Given the description of an element on the screen output the (x, y) to click on. 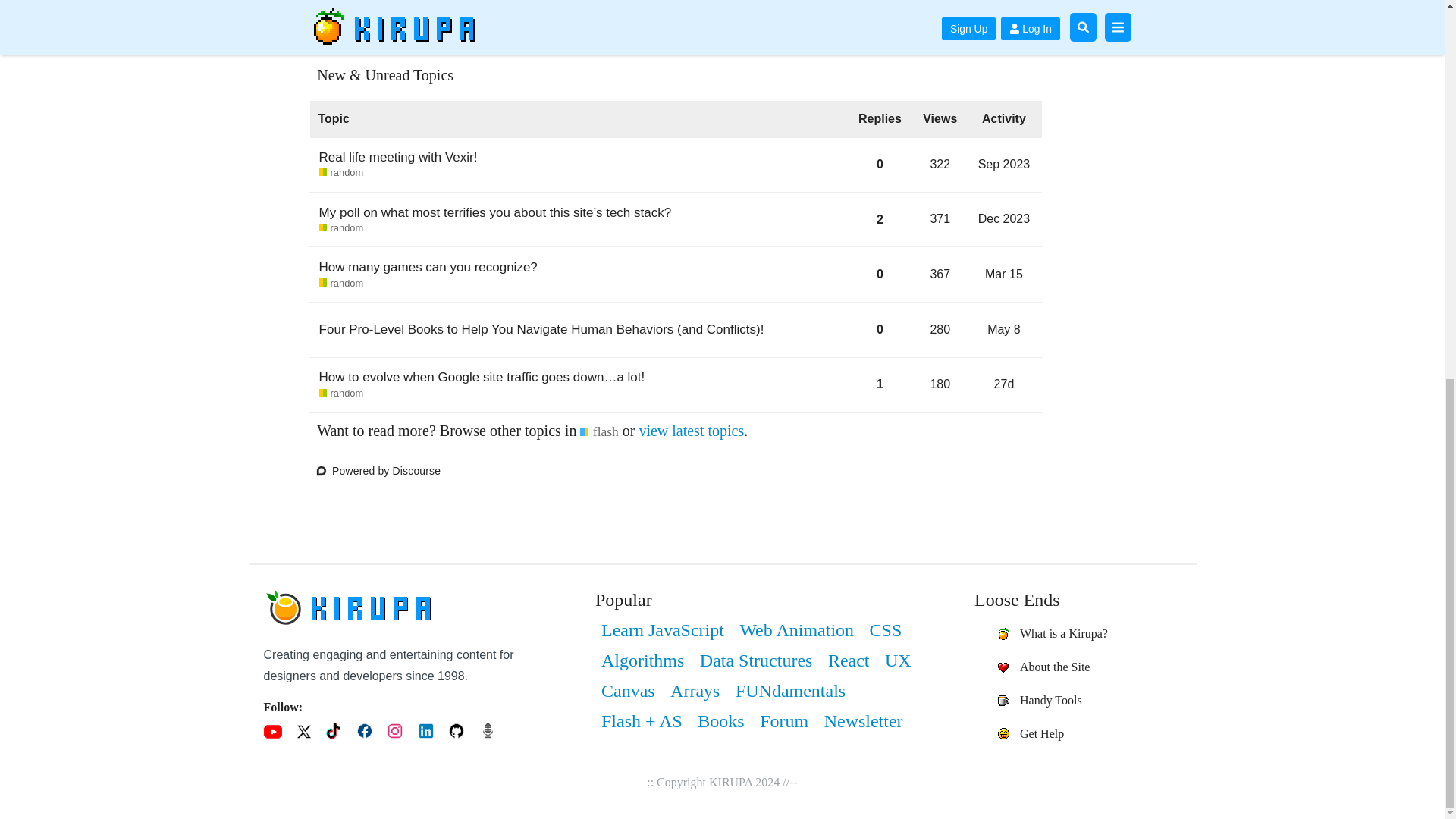
Created: Sep 20, 2023 9:45 pm (1005, 219)
Created: Mar 15, 2024 1:46 pm (1005, 169)
view latest topics (1005, 274)
this topic has been viewed 367 times (691, 430)
Real life meeting with Vexir! (940, 273)
This topic has 0 replies (397, 157)
May 8 (880, 274)
random (1004, 329)
How many games can you recognize? (341, 228)
random (427, 266)
This topic has 0 replies (341, 283)
Dec 2023 (880, 329)
Reply (1003, 218)
This topic has 0 replies (843, 11)
